Given the description of an element on the screen output the (x, y) to click on. 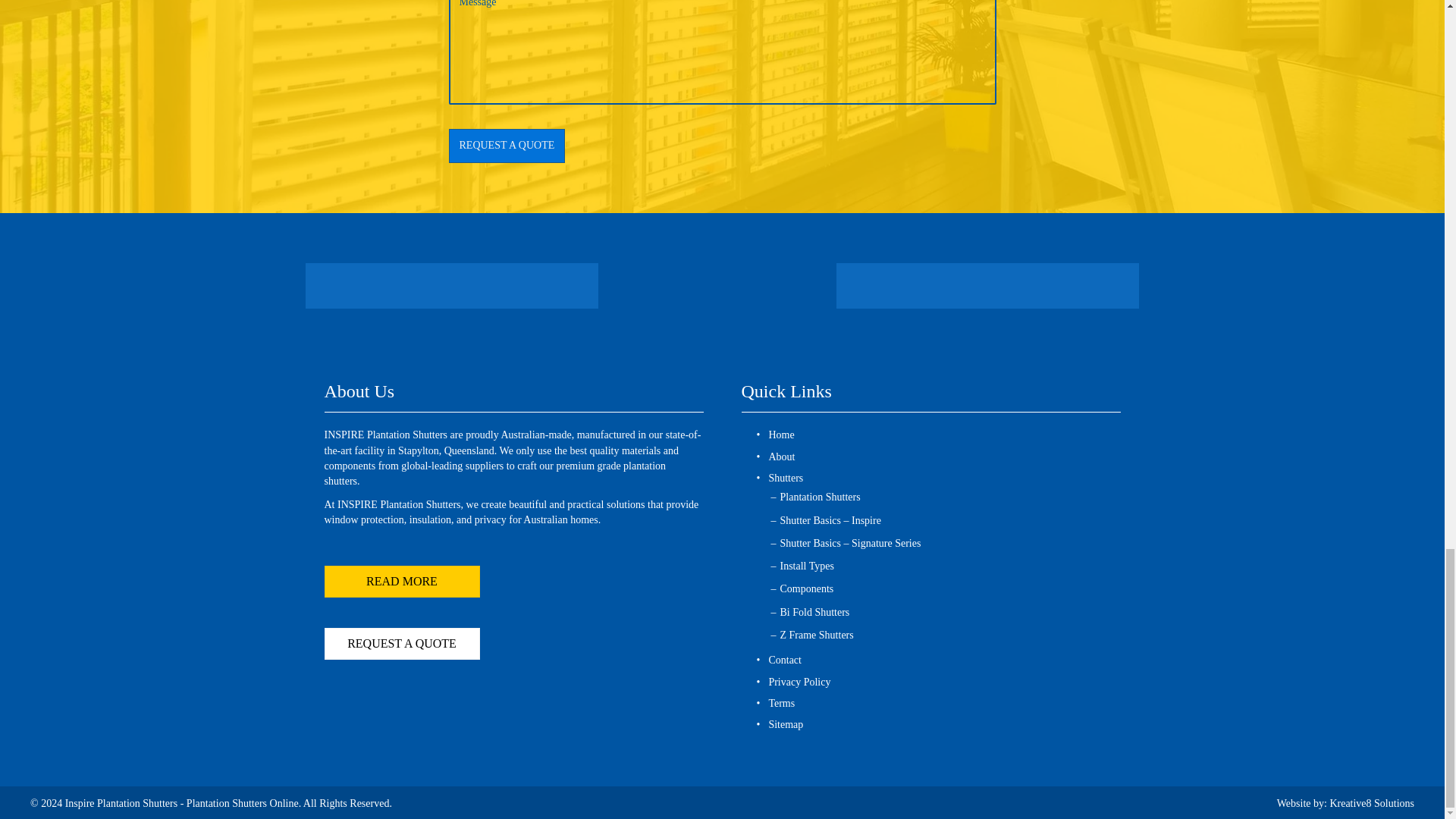
INSPIRE Plantation Shutters (716, 285)
REQUEST A QUOTE (507, 145)
